Given the description of an element on the screen output the (x, y) to click on. 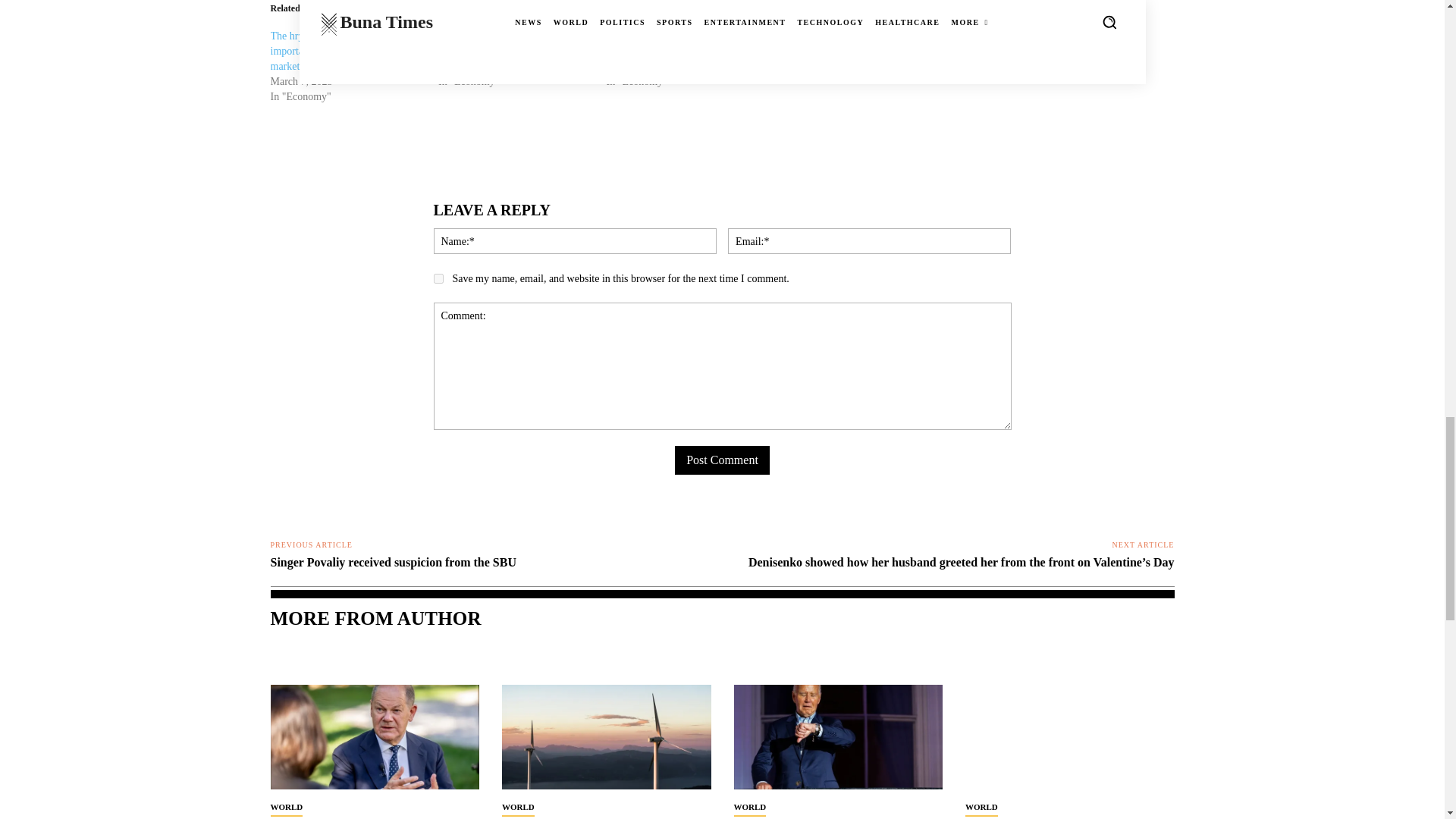
Post Comment (722, 460)
yes (438, 278)
